Given the description of an element on the screen output the (x, y) to click on. 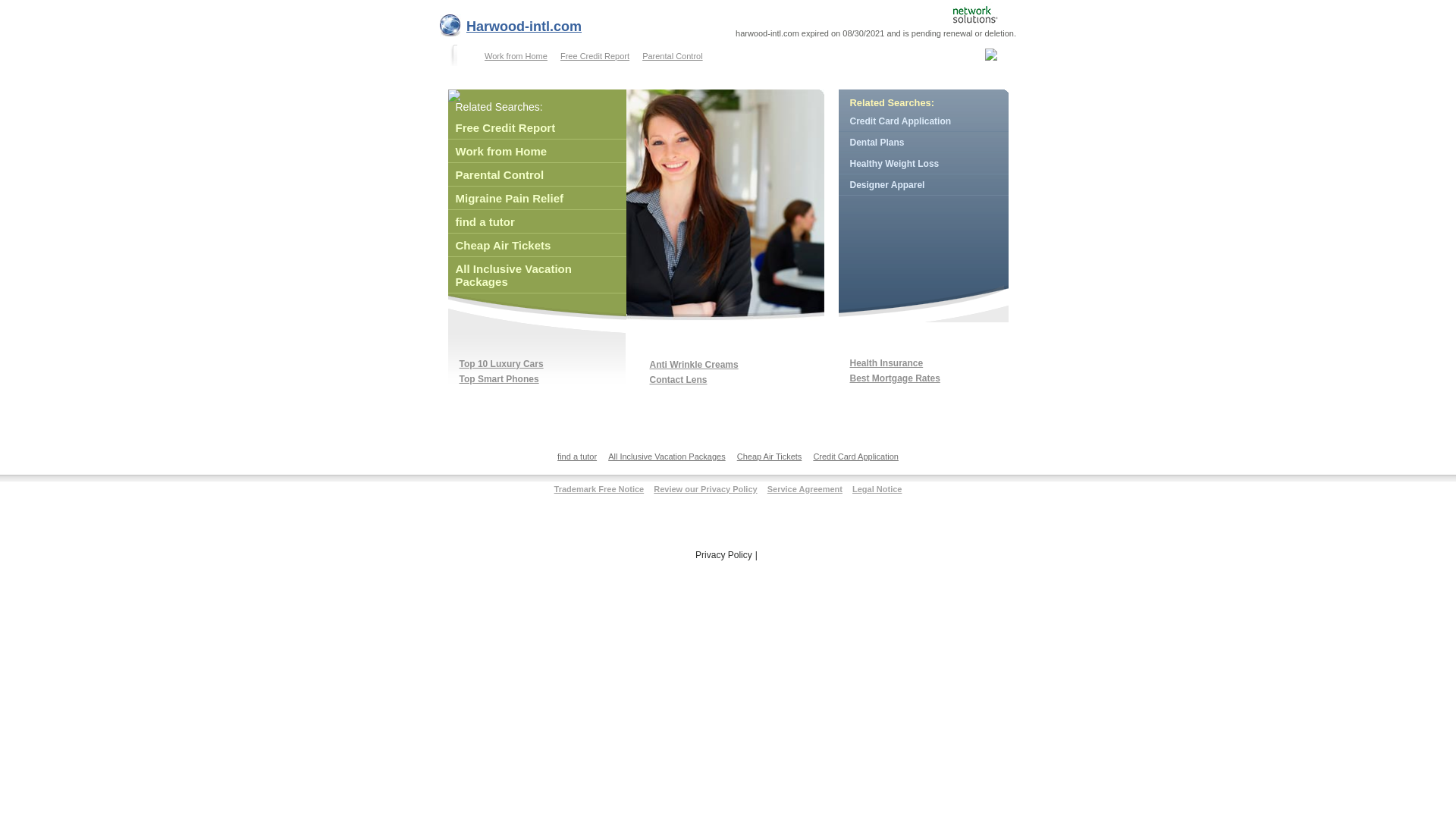
Dental Plans (923, 142)
Work from Home (536, 151)
Review our Privacy Policy (704, 488)
Anti Wrinkle Creams (693, 364)
All Inclusive Vacation Packages (536, 275)
Contact Lens (678, 379)
Credit Card Application (923, 121)
Cheap Air Tickets (769, 460)
All Inclusive Vacation Packages (667, 460)
Parental Control (670, 55)
